Given the description of an element on the screen output the (x, y) to click on. 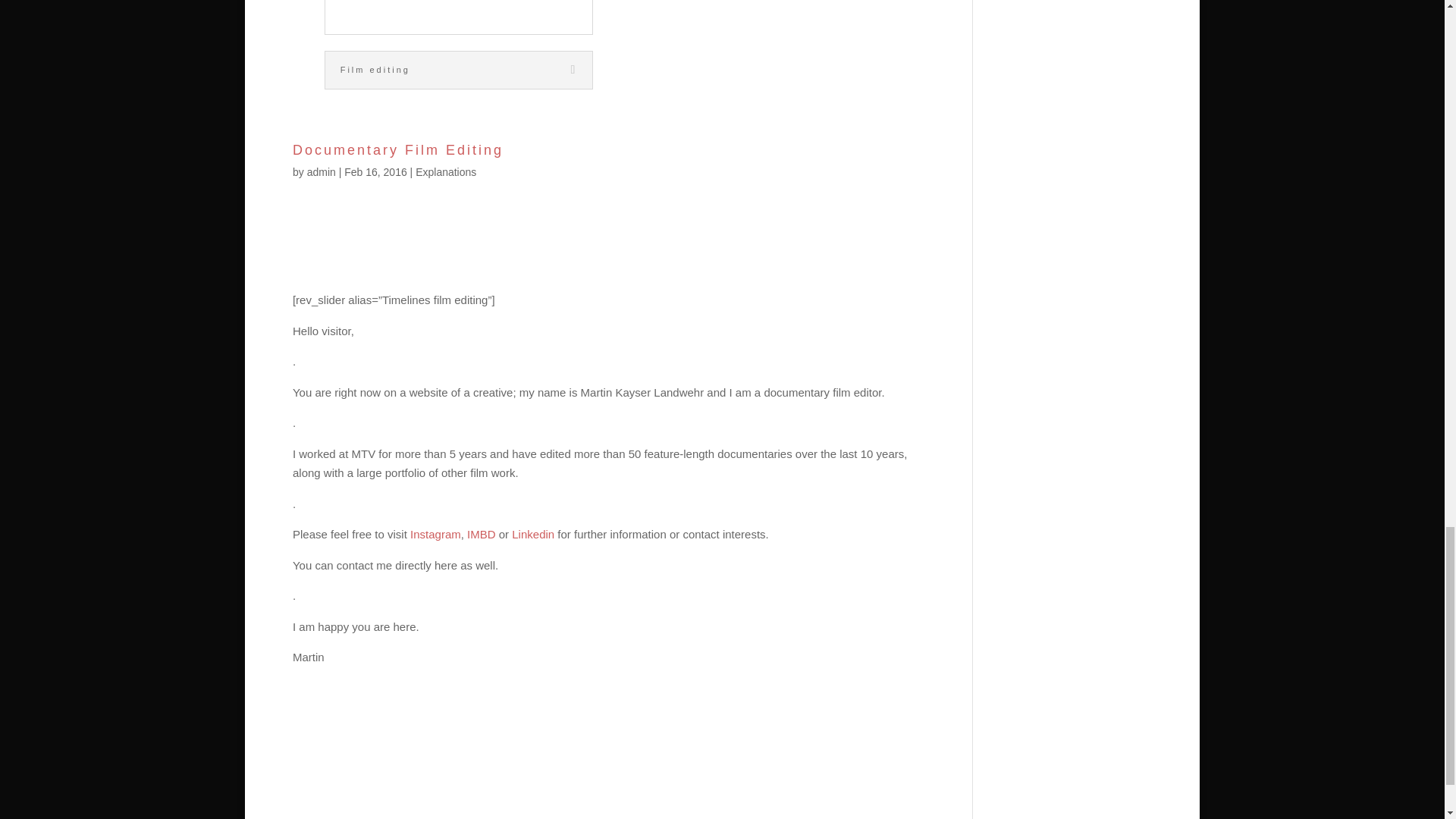
Posts by admin (321, 172)
Documentary Film Editing (397, 150)
